Given the description of an element on the screen output the (x, y) to click on. 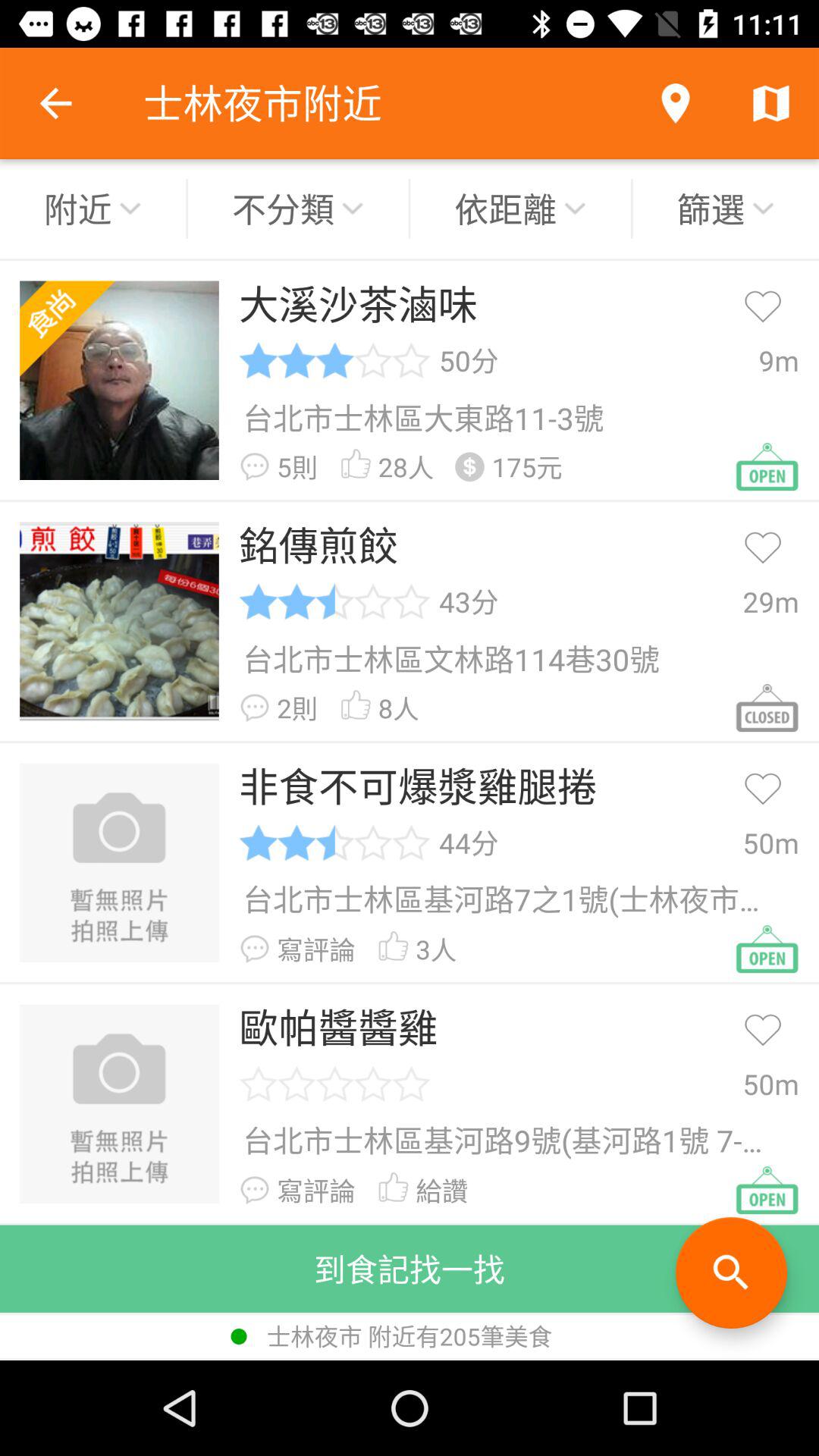
swipe until the 29m item (770, 601)
